Given the description of an element on the screen output the (x, y) to click on. 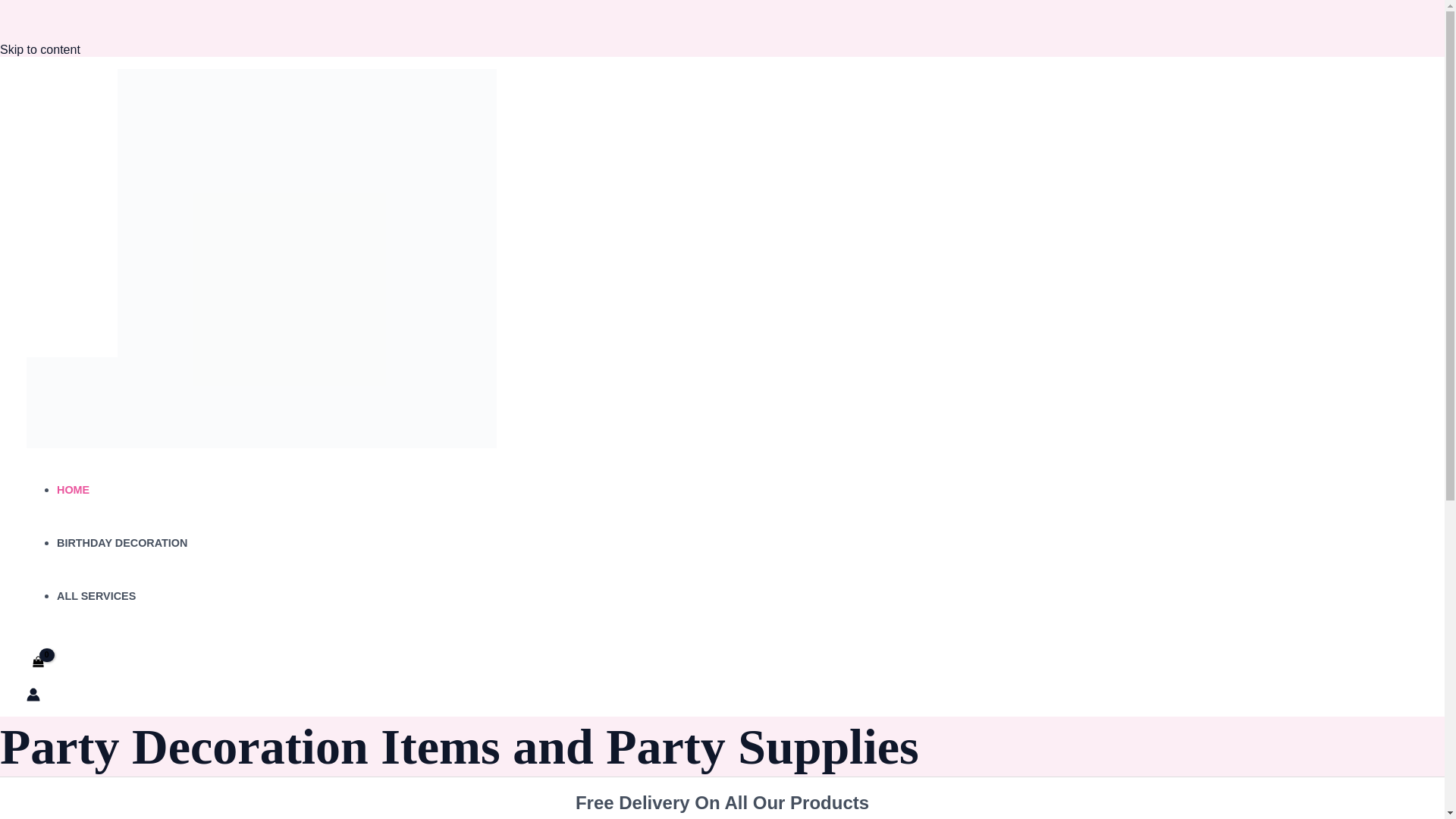
HOME (72, 490)
Skip to content (40, 49)
ALL SERVICES (95, 595)
Skip to content (40, 49)
BIRTHDAY DECORATION (121, 542)
